Given the description of an element on the screen output the (x, y) to click on. 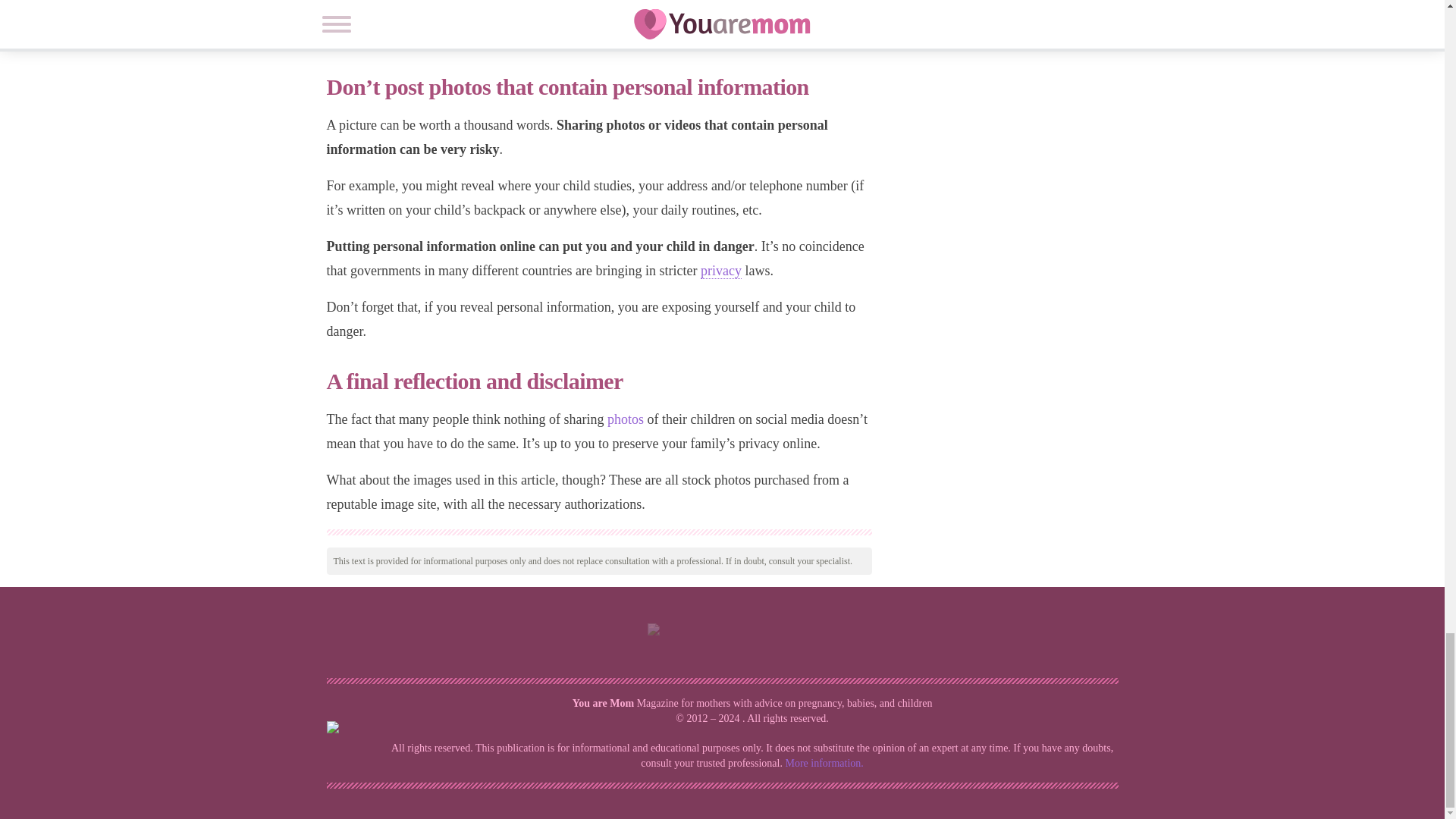
More information. (823, 763)
privacy (720, 270)
photos (625, 418)
